Given the description of an element on the screen output the (x, y) to click on. 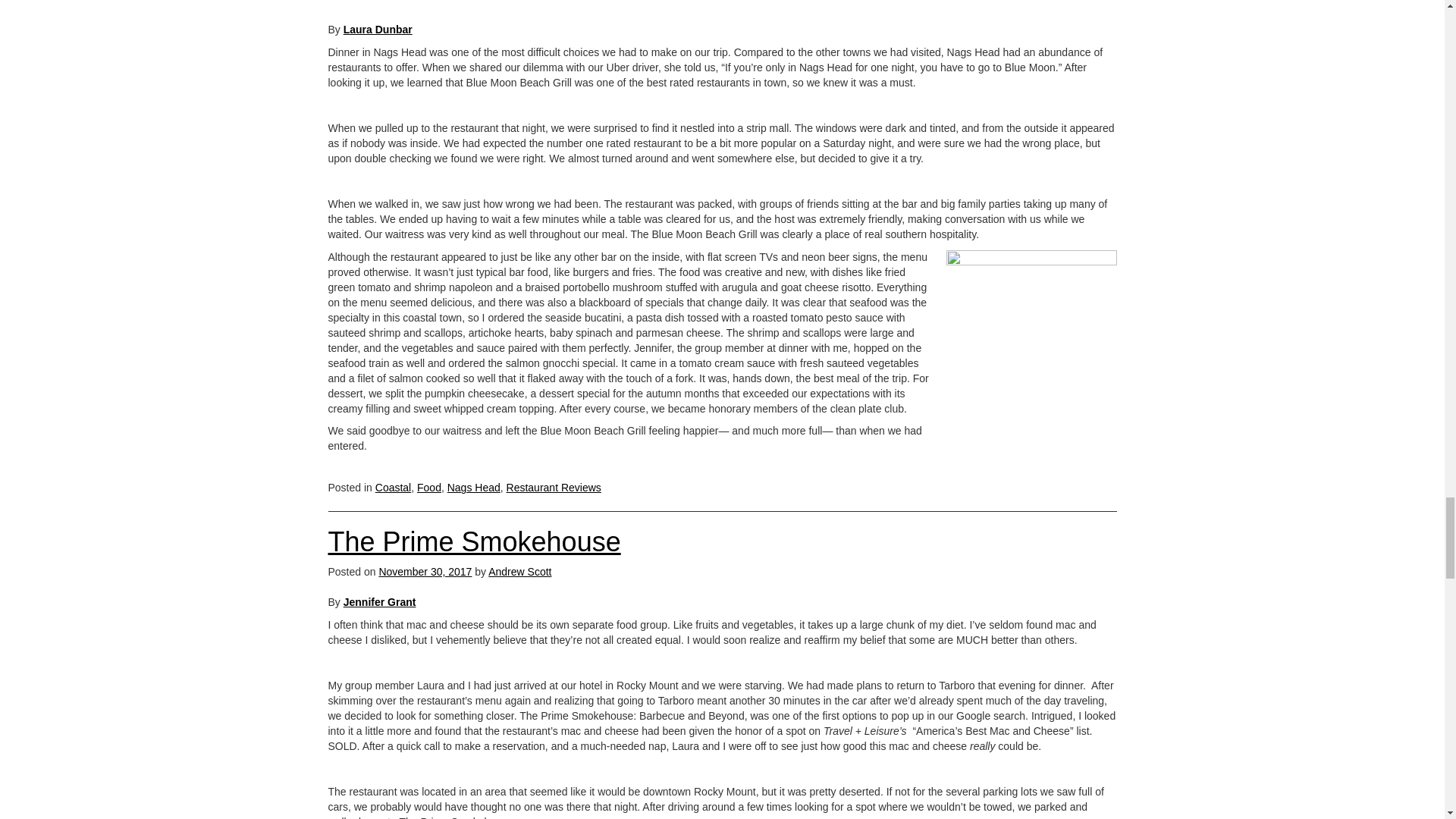
4:47 pm (424, 571)
